Given the description of an element on the screen output the (x, y) to click on. 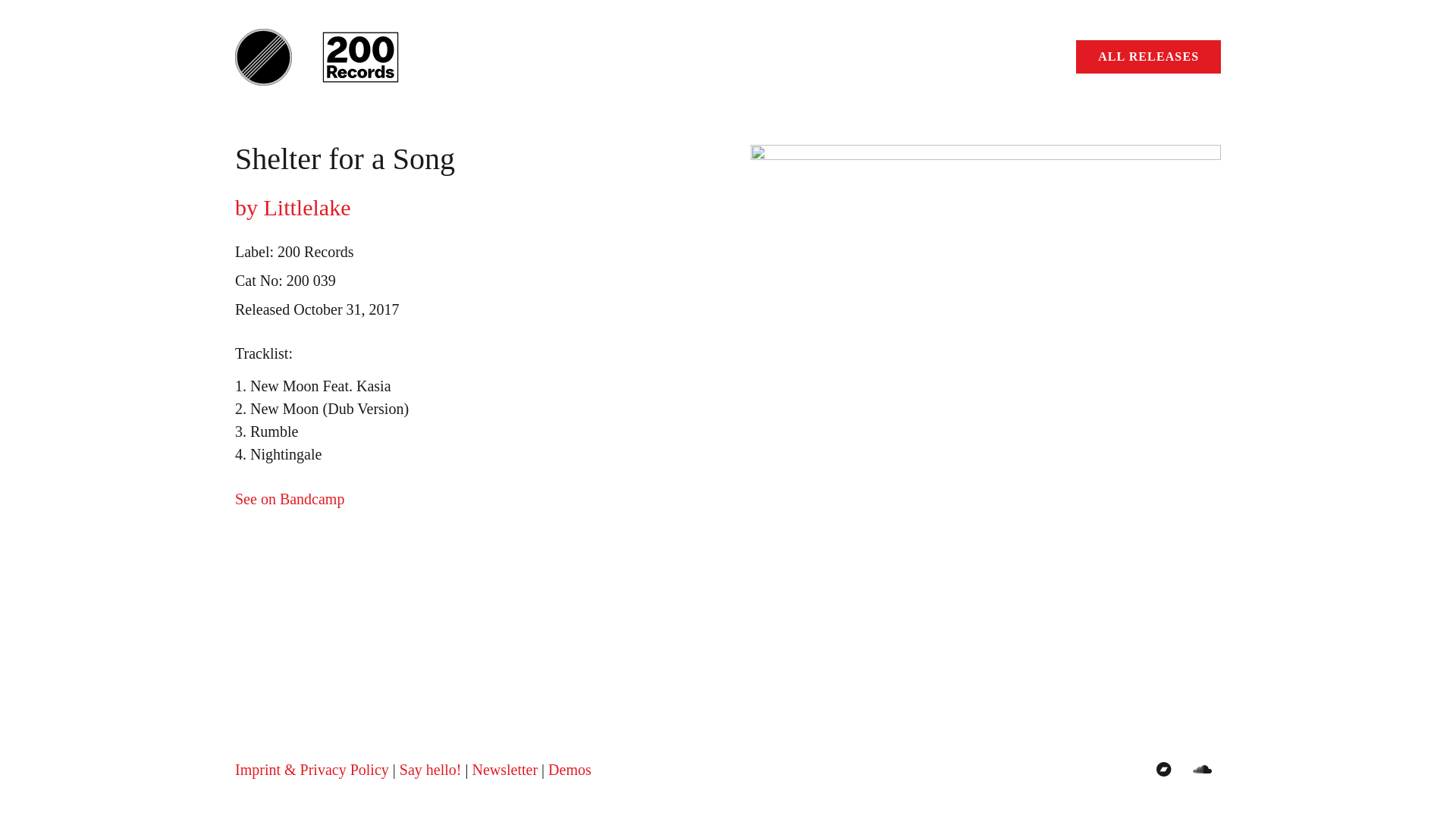
ALL RELEASES Element type: text (1148, 57)
SoundCloud Element type: hover (1201, 769)
Say hello! Element type: text (430, 769)
Demos Element type: text (569, 769)
See on Bandcamp Element type: text (289, 498)
Newsletter Element type: text (504, 769)
Title Element type: hover (1164, 769)
Imprint & Privacy Policy Element type: text (312, 769)
